Given the description of an element on the screen output the (x, y) to click on. 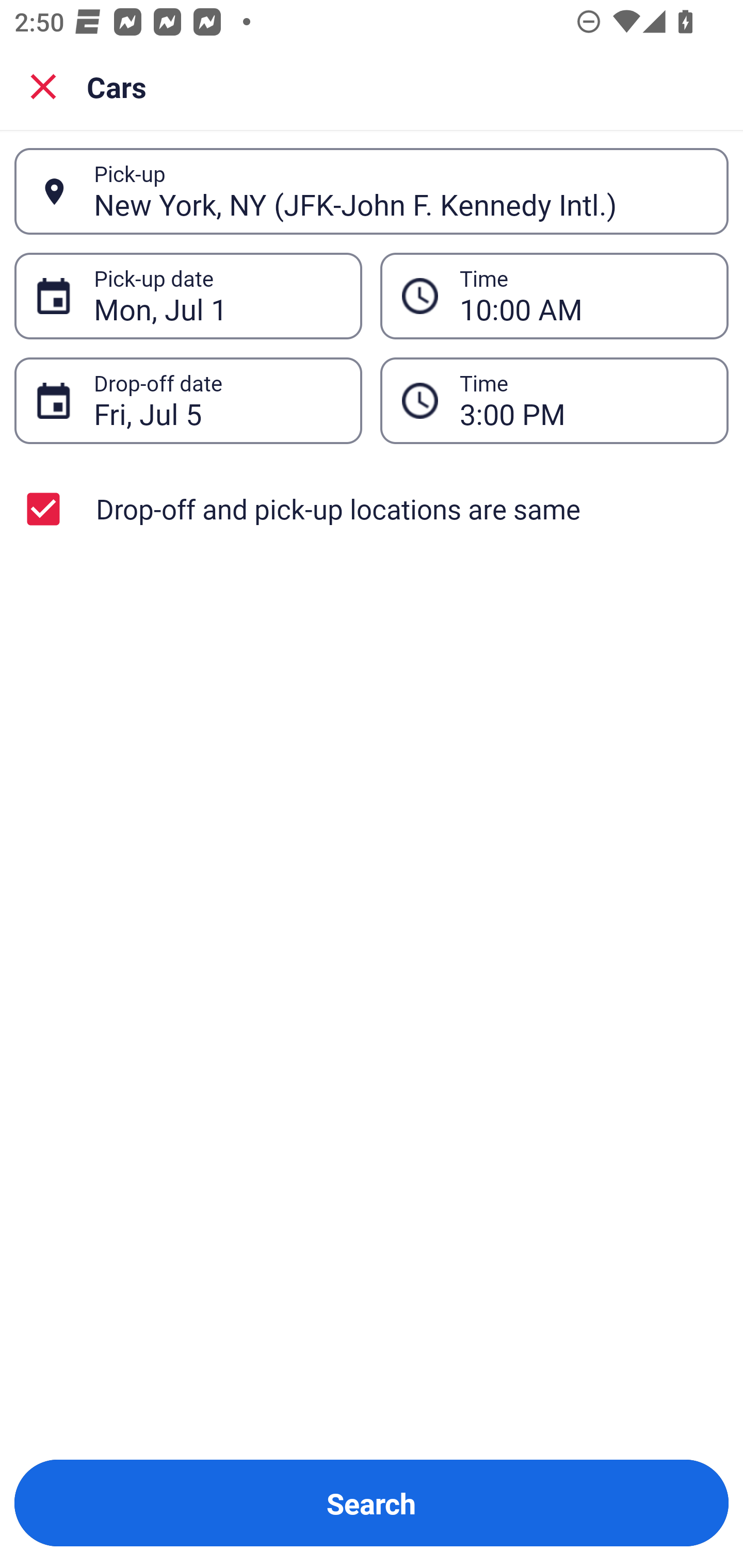
Close search screen (43, 86)
New York, NY (JFK-John F. Kennedy Intl.) Pick-up (371, 191)
New York, NY (JFK-John F. Kennedy Intl.) (399, 191)
Mon, Jul 1 Pick-up date (188, 295)
10:00 AM (554, 295)
Mon, Jul 1 (216, 296)
10:00 AM (582, 296)
Fri, Jul 5 Drop-off date (188, 400)
3:00 PM (554, 400)
Fri, Jul 5 (216, 400)
3:00 PM (582, 400)
Drop-off and pick-up locations are same (371, 508)
Search Button Search (371, 1502)
